Given the description of an element on the screen output the (x, y) to click on. 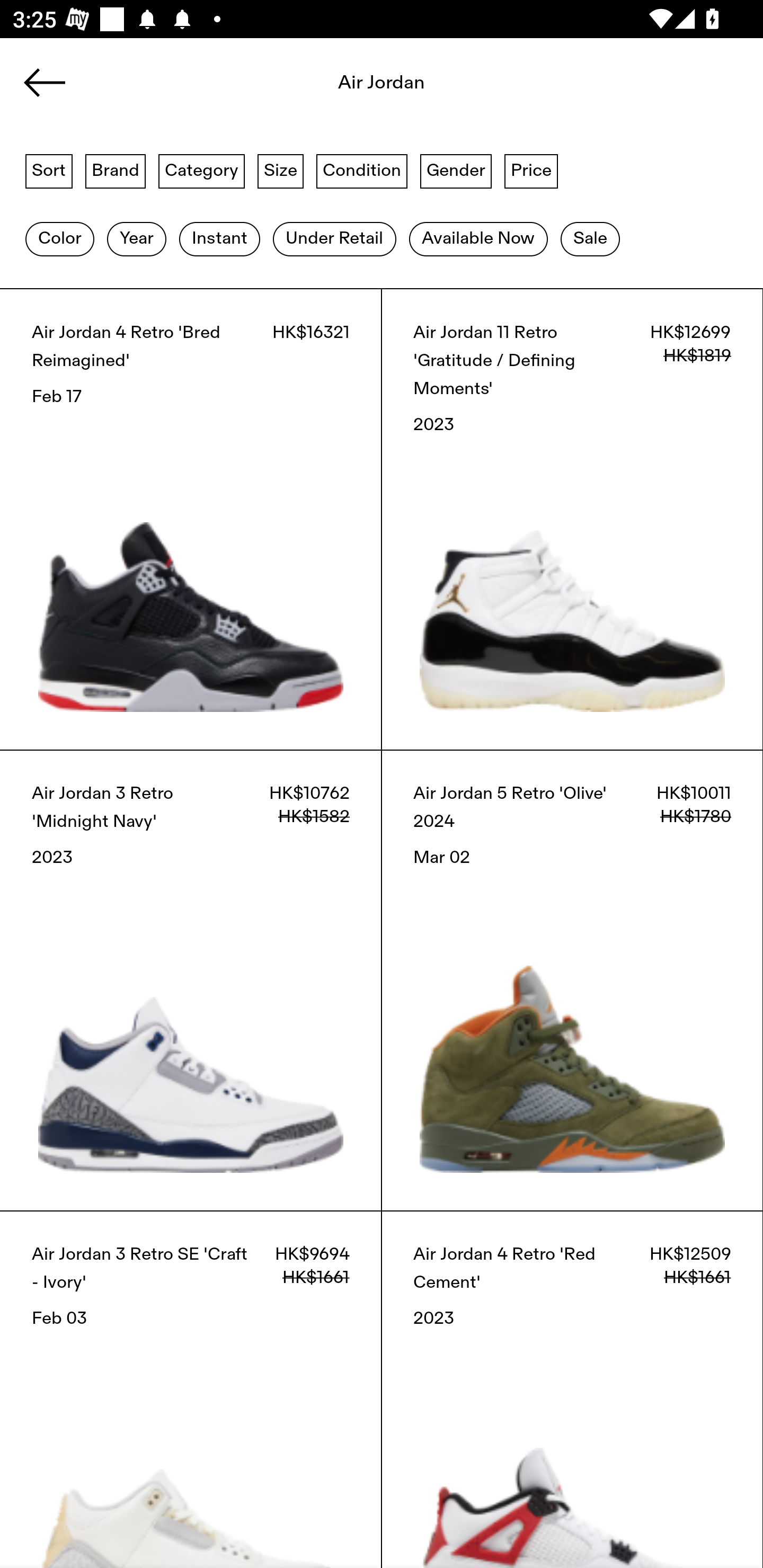
Search (381, 88)
Sort (48, 170)
Brand (115, 170)
Category (201, 170)
Size (280, 170)
Condition (361, 170)
Gender (455, 170)
Price (530, 170)
Color (59, 239)
Year (136, 239)
Instant (219, 239)
Under Retail (334, 239)
Available Now (477, 239)
Sale (589, 239)
